Given the description of an element on the screen output the (x, y) to click on. 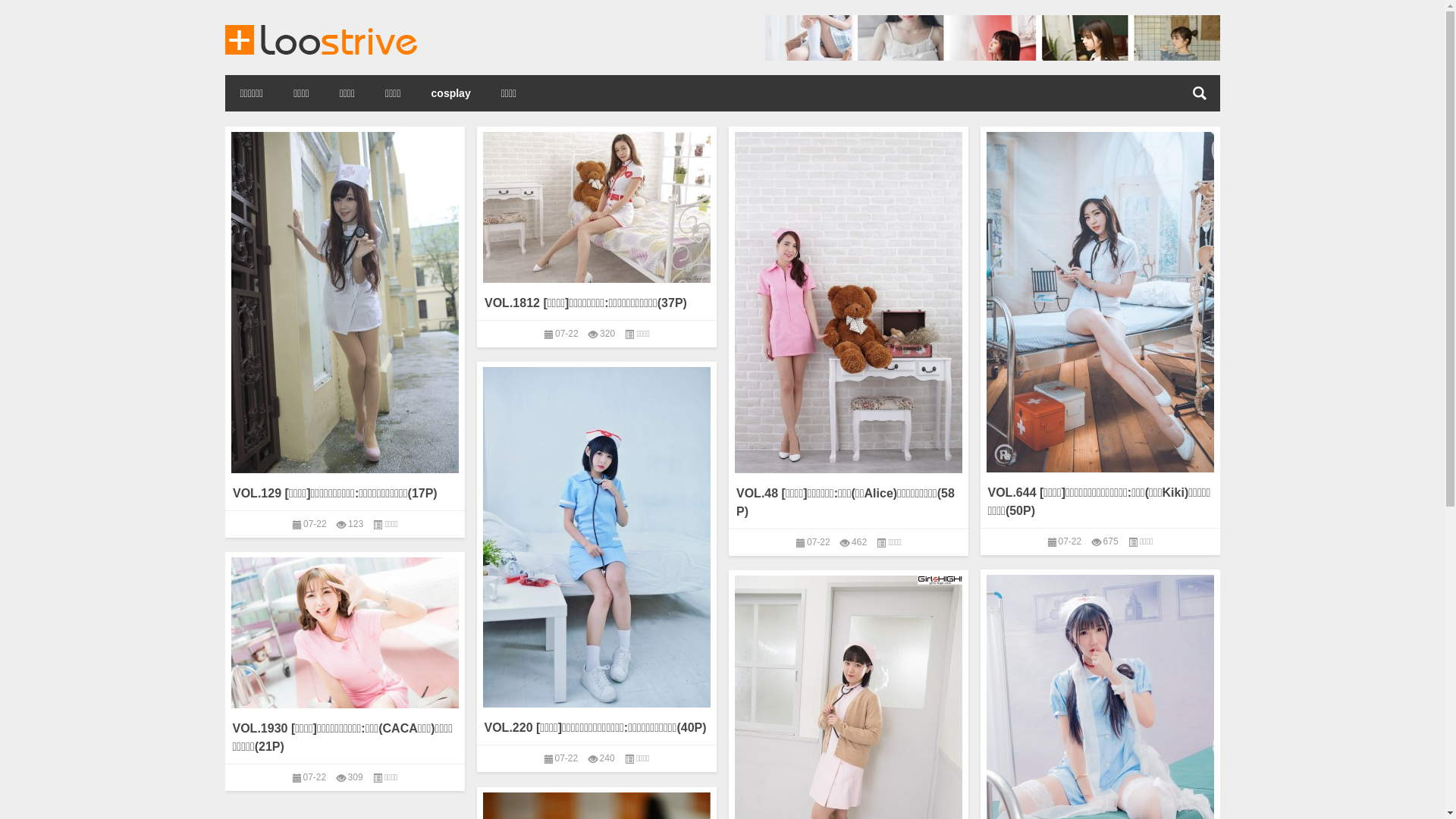
cosplay Element type: text (451, 93)
